Given the description of an element on the screen output the (x, y) to click on. 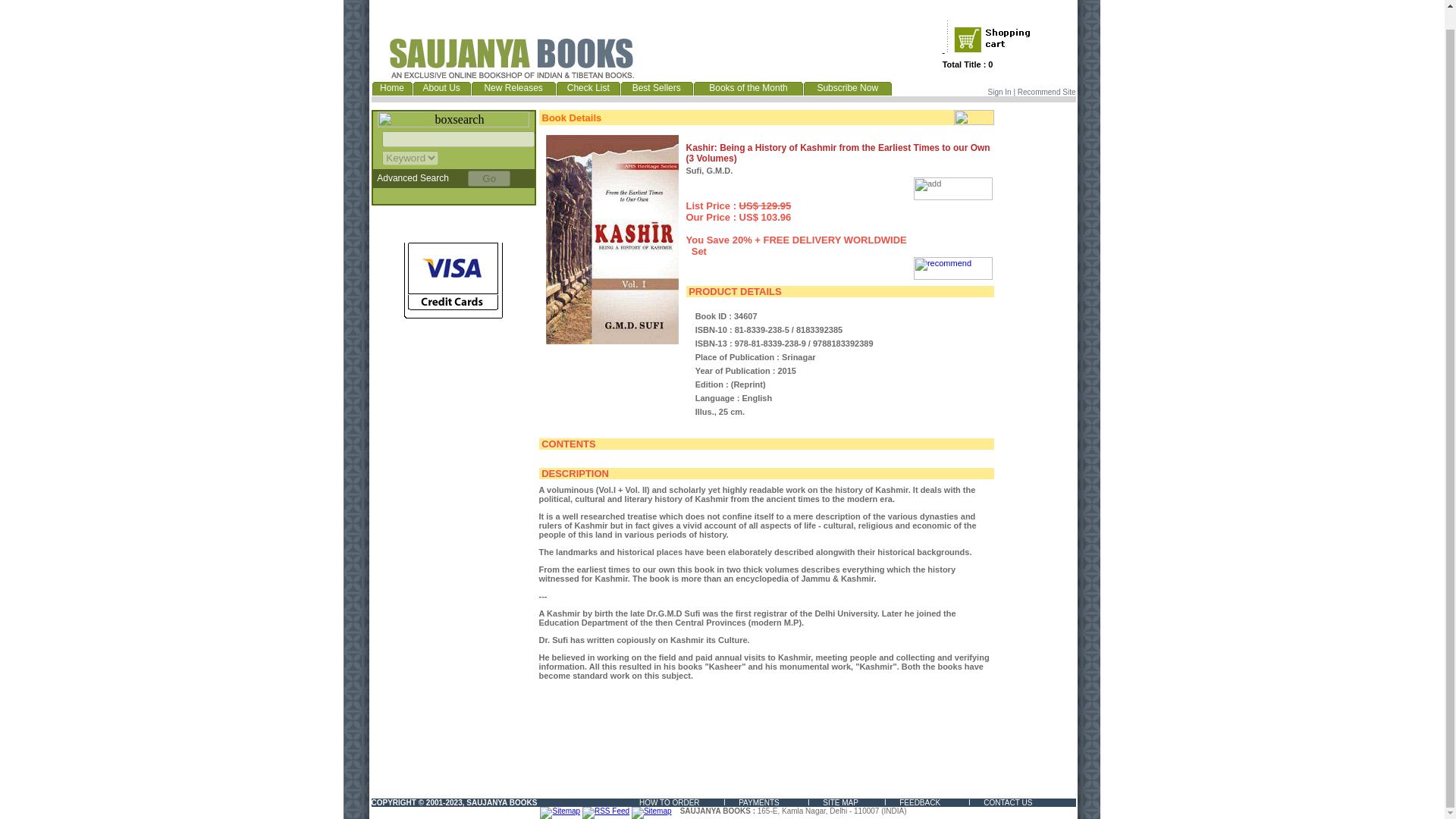
Best Sellers (656, 87)
   Go    (489, 178)
PAYMENTS (758, 802)
New Releases (512, 87)
SITE MAP (840, 802)
Advanced Search (411, 177)
About Us (441, 87)
CONTACT US (1008, 802)
Home (392, 87)
FEEDBACK (919, 802)
